Given the description of an element on the screen output the (x, y) to click on. 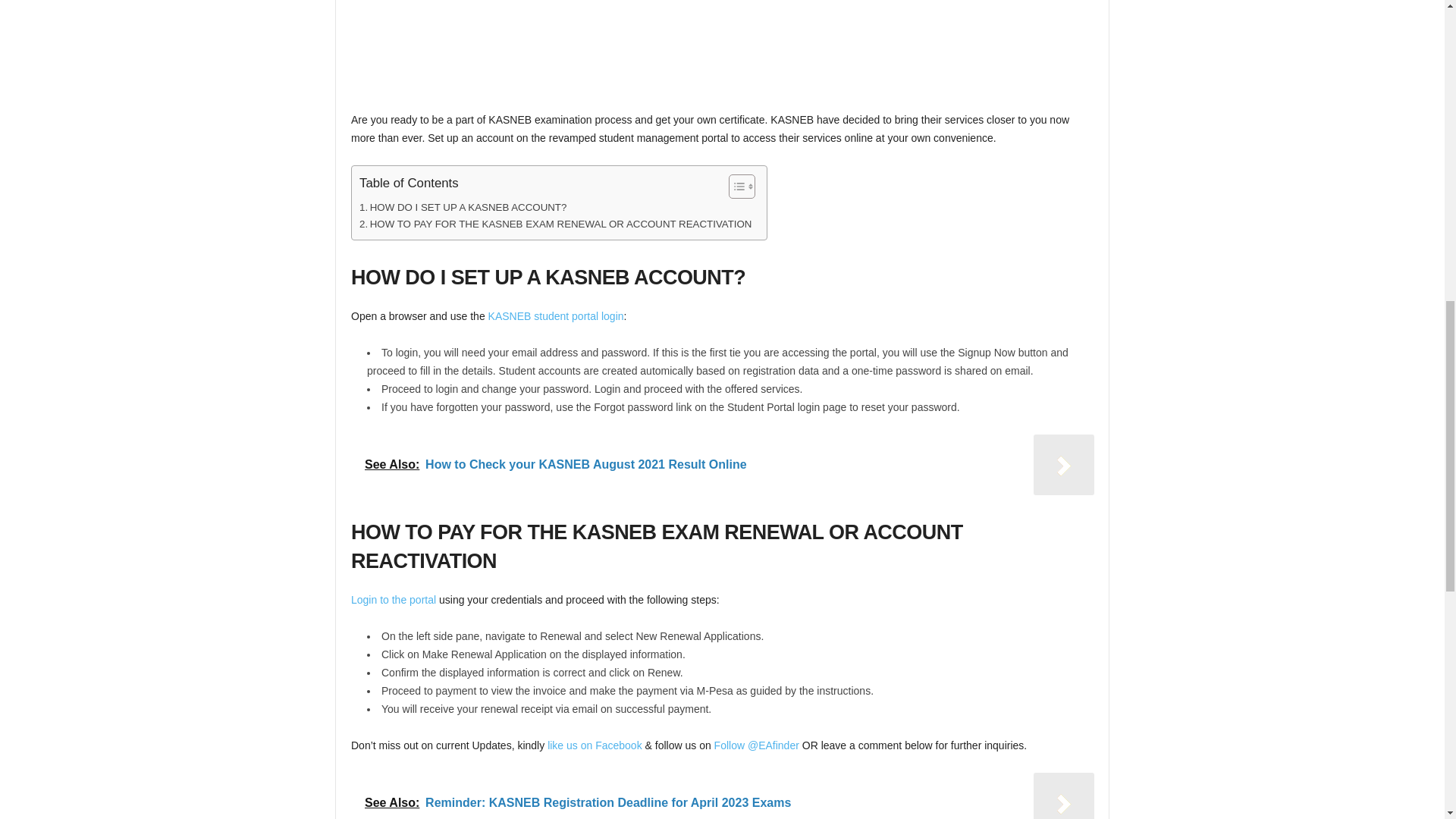
HOW DO I SET UP A KASNEB ACCOUNT? (462, 207)
Login to the portal (392, 599)
KASNEB student portal login (555, 316)
HOW DO I SET UP A KASNEB ACCOUNT? (462, 207)
like us on Facebook (594, 745)
